Given the description of an element on the screen output the (x, y) to click on. 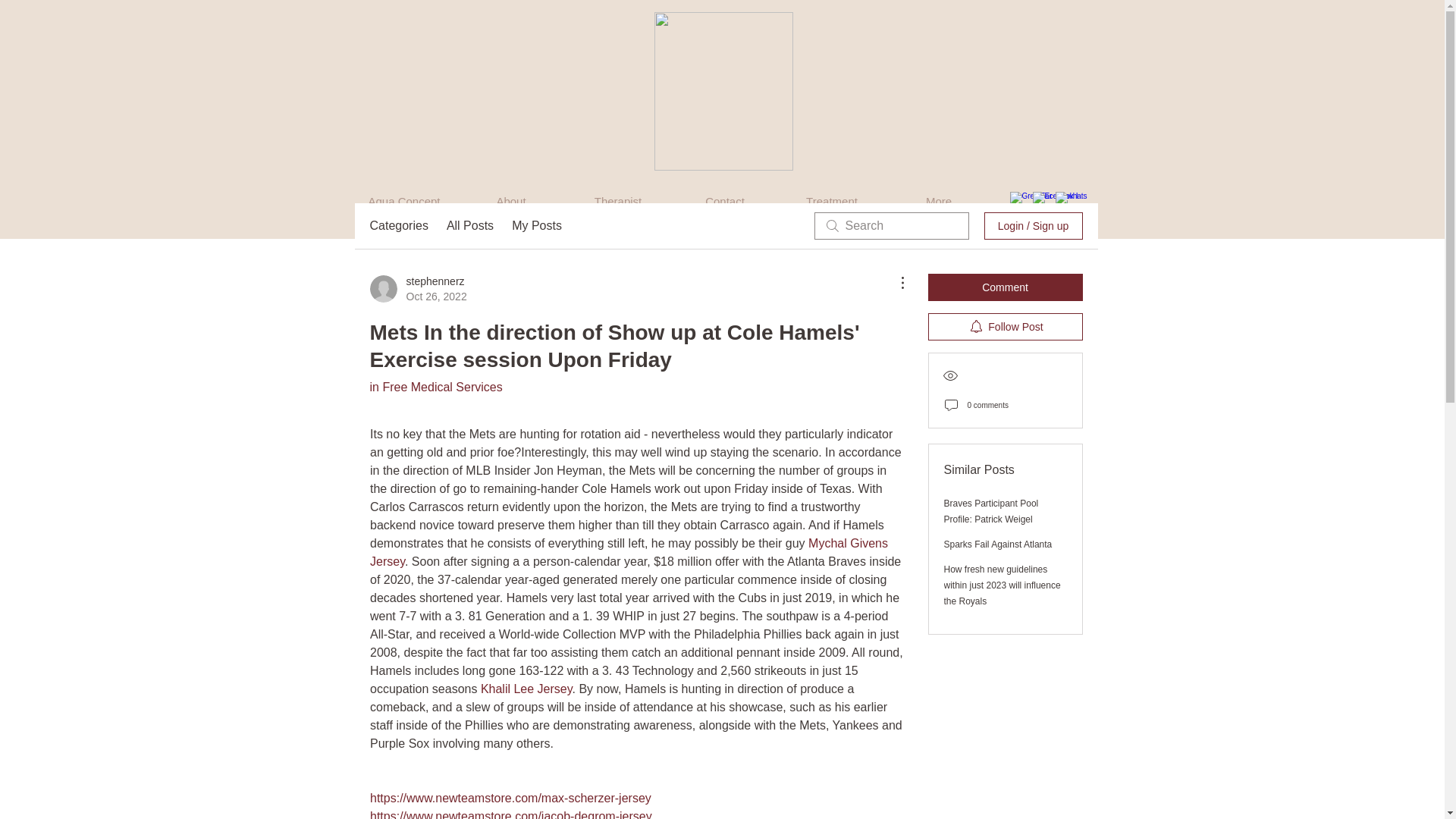
Braves Participant Pool Profile: Patrick Weigel (990, 510)
Therapist (617, 201)
About (511, 201)
Contact (724, 201)
All Posts (469, 226)
Aqua Concept (403, 201)
Mychal Givens Jersey (630, 552)
My Posts (537, 226)
Treatment (831, 201)
